Given the description of an element on the screen output the (x, y) to click on. 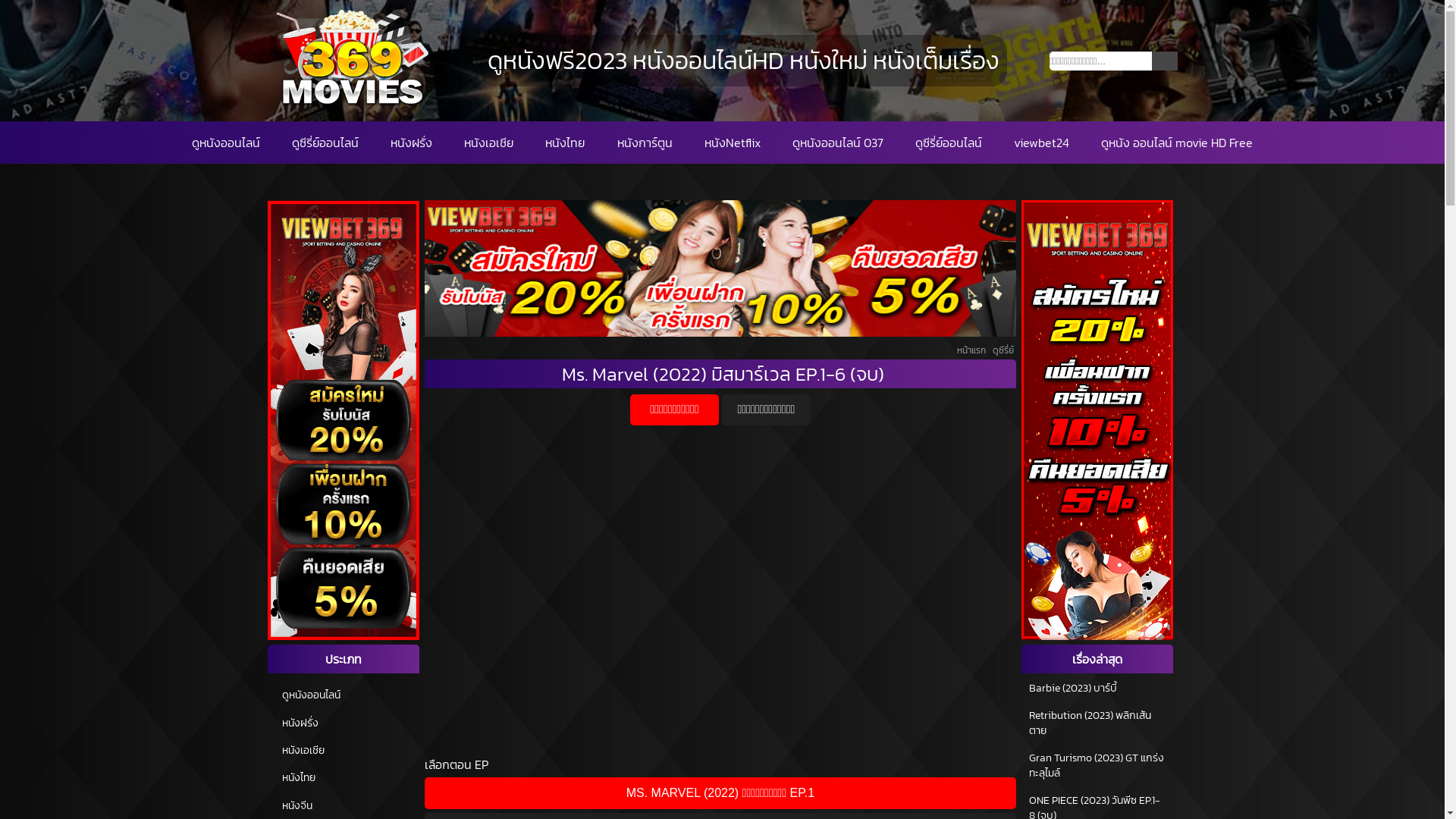
viewbet24 Element type: text (1041, 142)
